Given the description of an element on the screen output the (x, y) to click on. 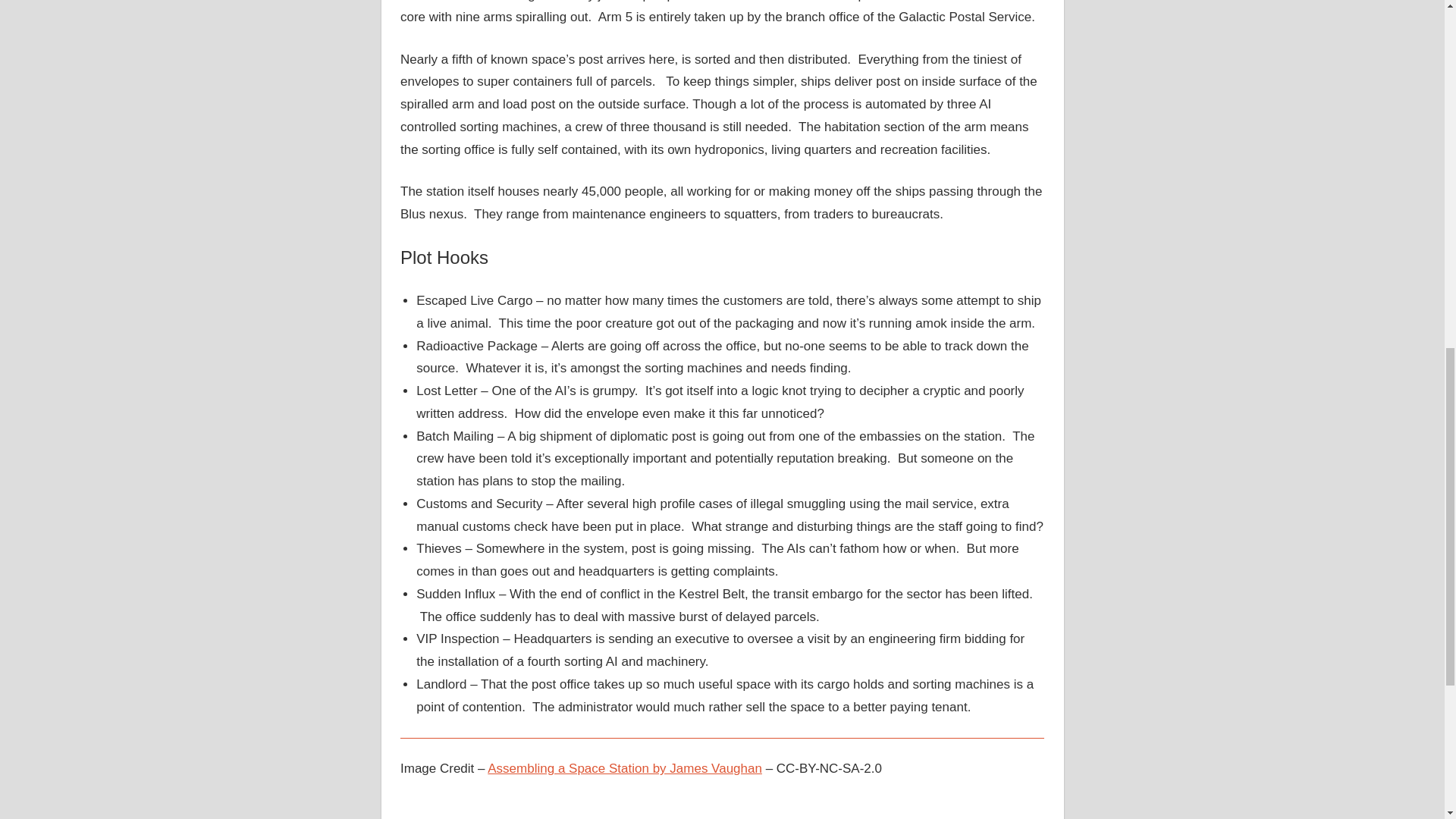
Assembling a Space Station by James Vaughan (624, 768)
